Given the description of an element on the screen output the (x, y) to click on. 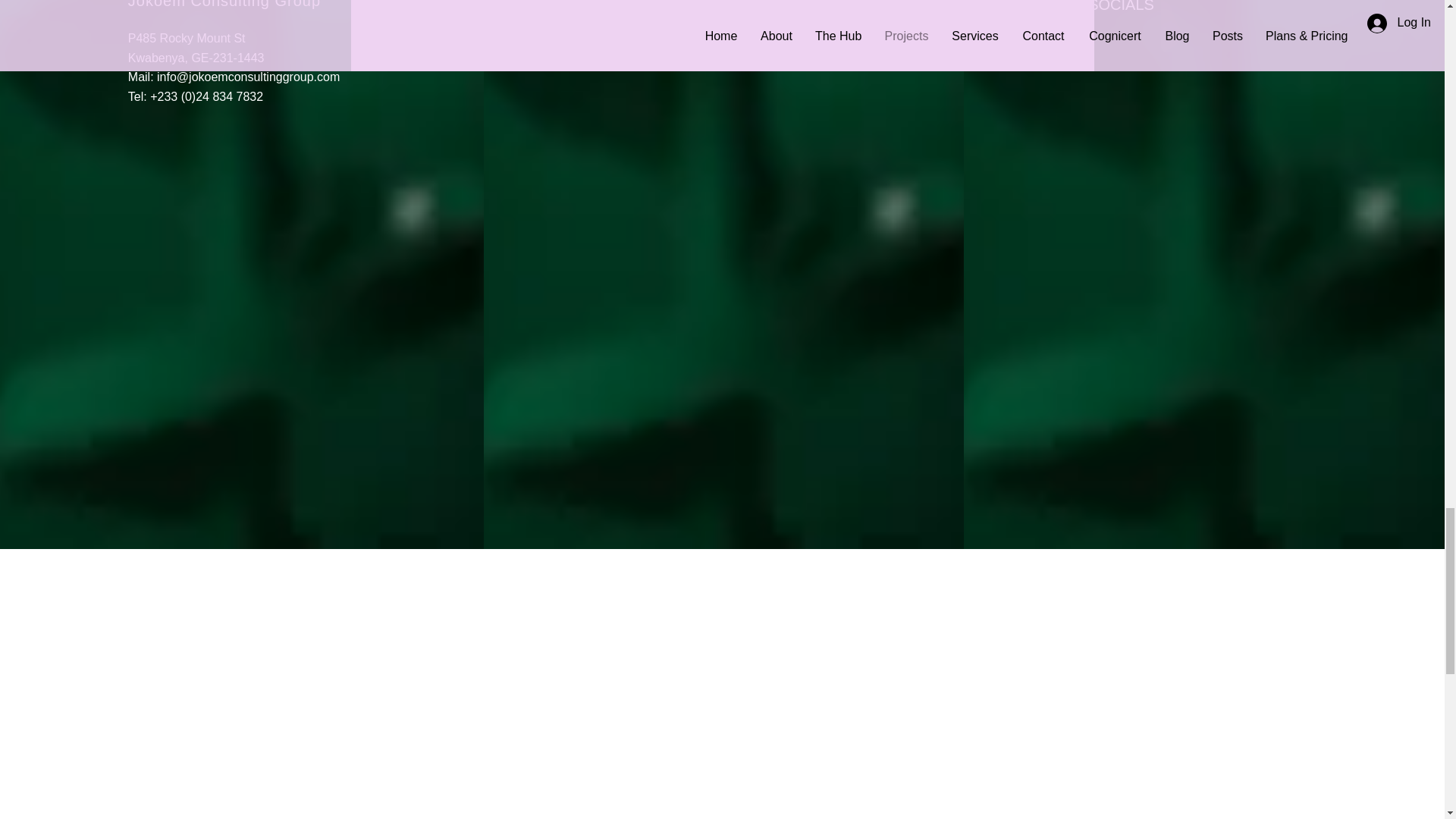
Jokoem Consulting Group (224, 4)
